Given the description of an element on the screen output the (x, y) to click on. 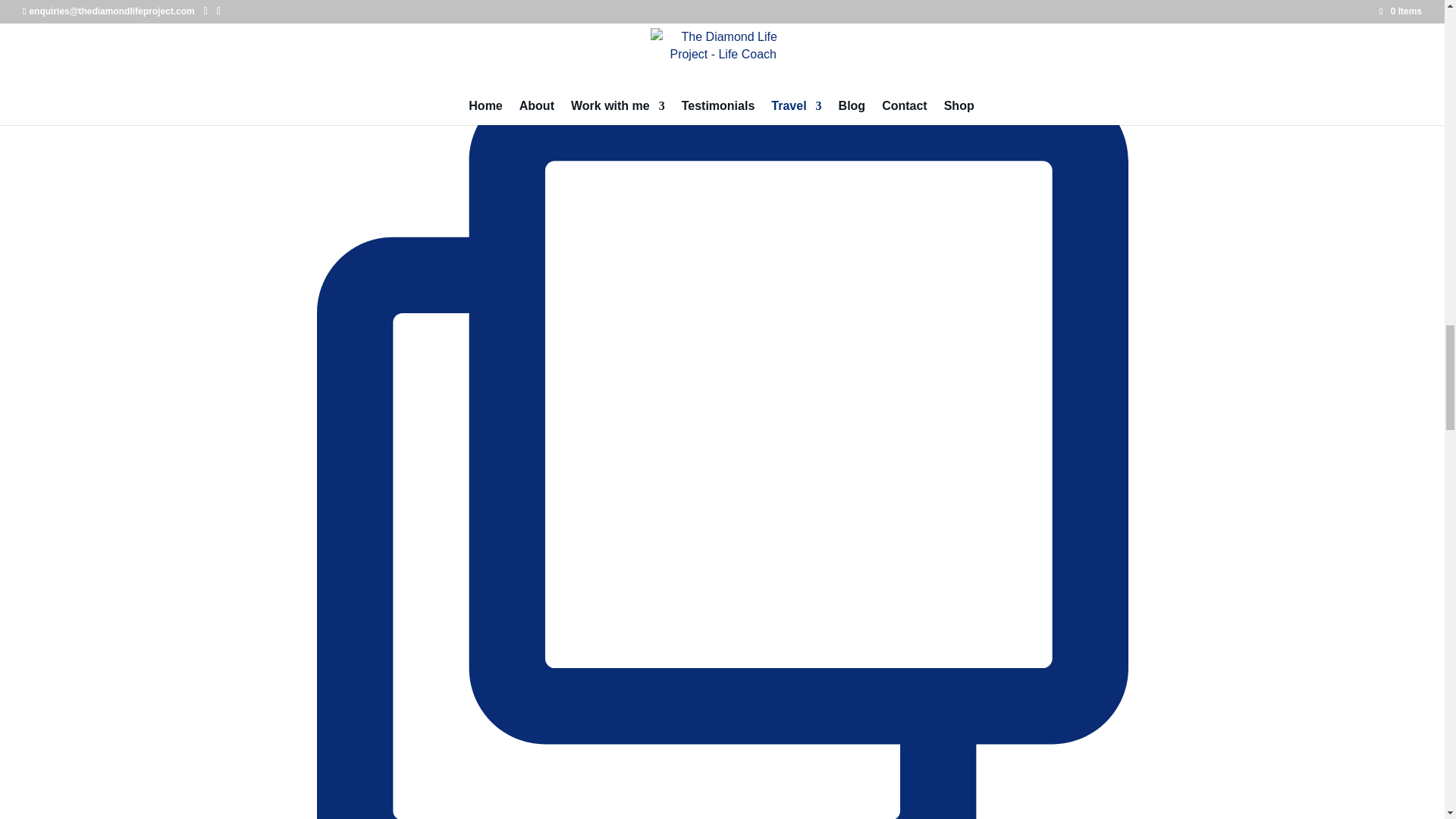
Enjoyed a day out with Logan at Edinburgh zoo this (722, 20)
